Given the description of an element on the screen output the (x, y) to click on. 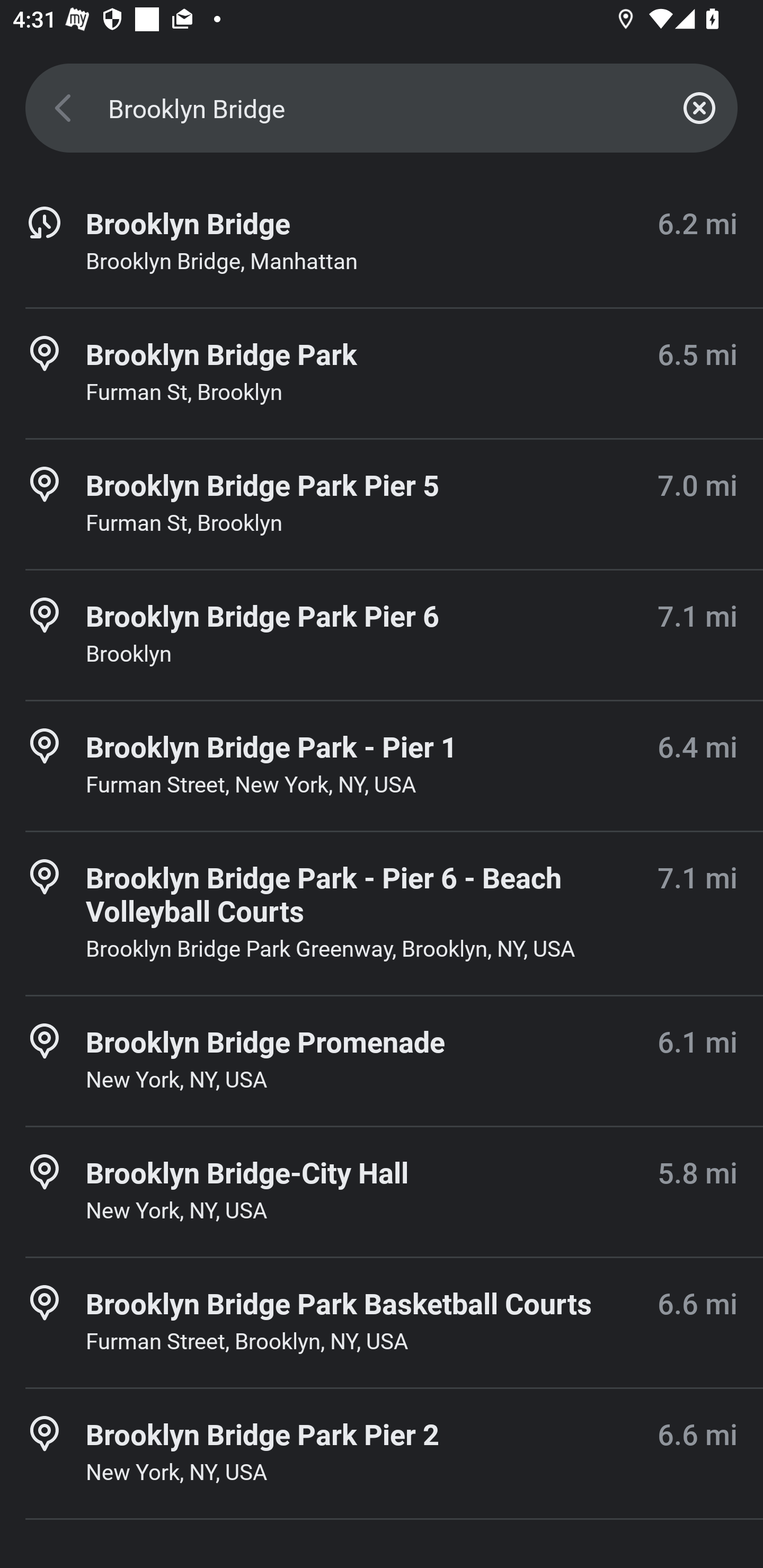
Brooklyn Bridge SEARCH_SCREEN_SEARCH_FIELD (381, 108)
Brooklyn Bridge 6.2 mi Brooklyn Bridge, Manhattan (381, 242)
Brooklyn Bridge Park 6.5 mi Furman St, Brooklyn (381, 372)
Brooklyn Bridge Park Pier 6 7.1 mi Brooklyn (381, 634)
Brooklyn Bridge Promenade 6.1 mi New York, NY, USA (381, 1060)
Brooklyn Bridge-City Hall 5.8 mi New York, NY, USA (381, 1191)
